Given the description of an element on the screen output the (x, y) to click on. 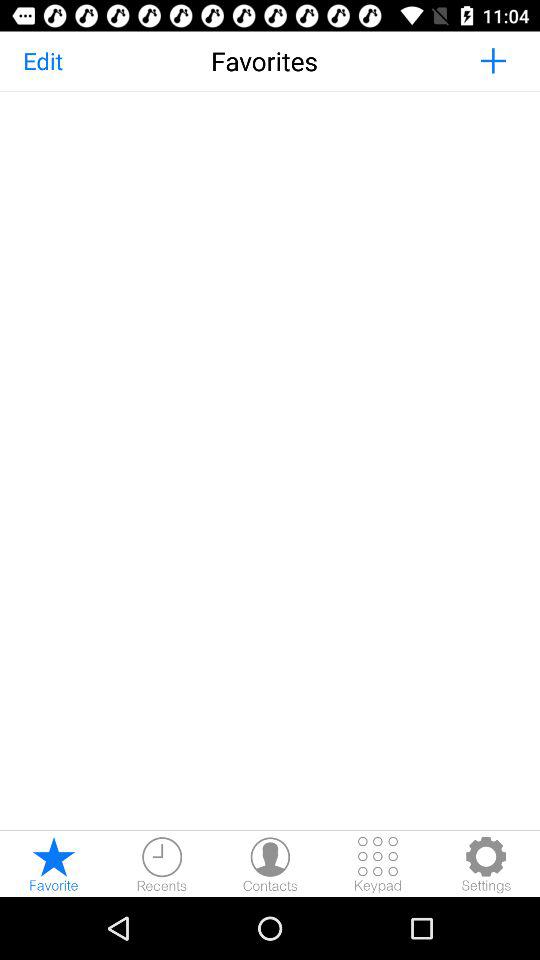
make a favorite (53, 864)
